Given the description of an element on the screen output the (x, y) to click on. 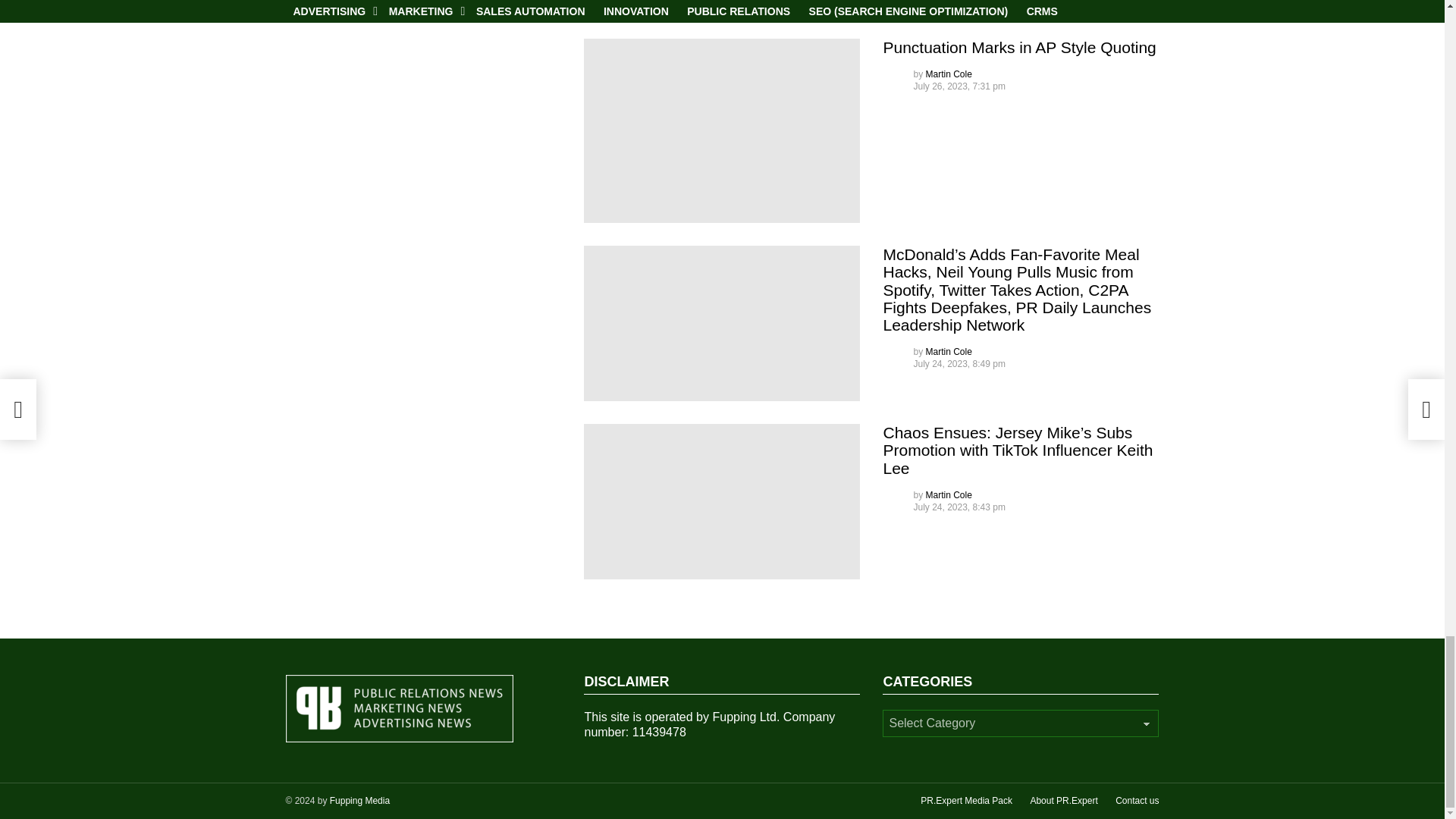
Posts by Martin Cole (949, 351)
Punctuation Marks in AP Style Quoting (721, 130)
Posts by Martin Cole (949, 73)
Posts by Martin Cole (949, 494)
AP Style Updates: Serial Comma, Headline Style, and Pronouns (721, 7)
